Given the description of an element on the screen output the (x, y) to click on. 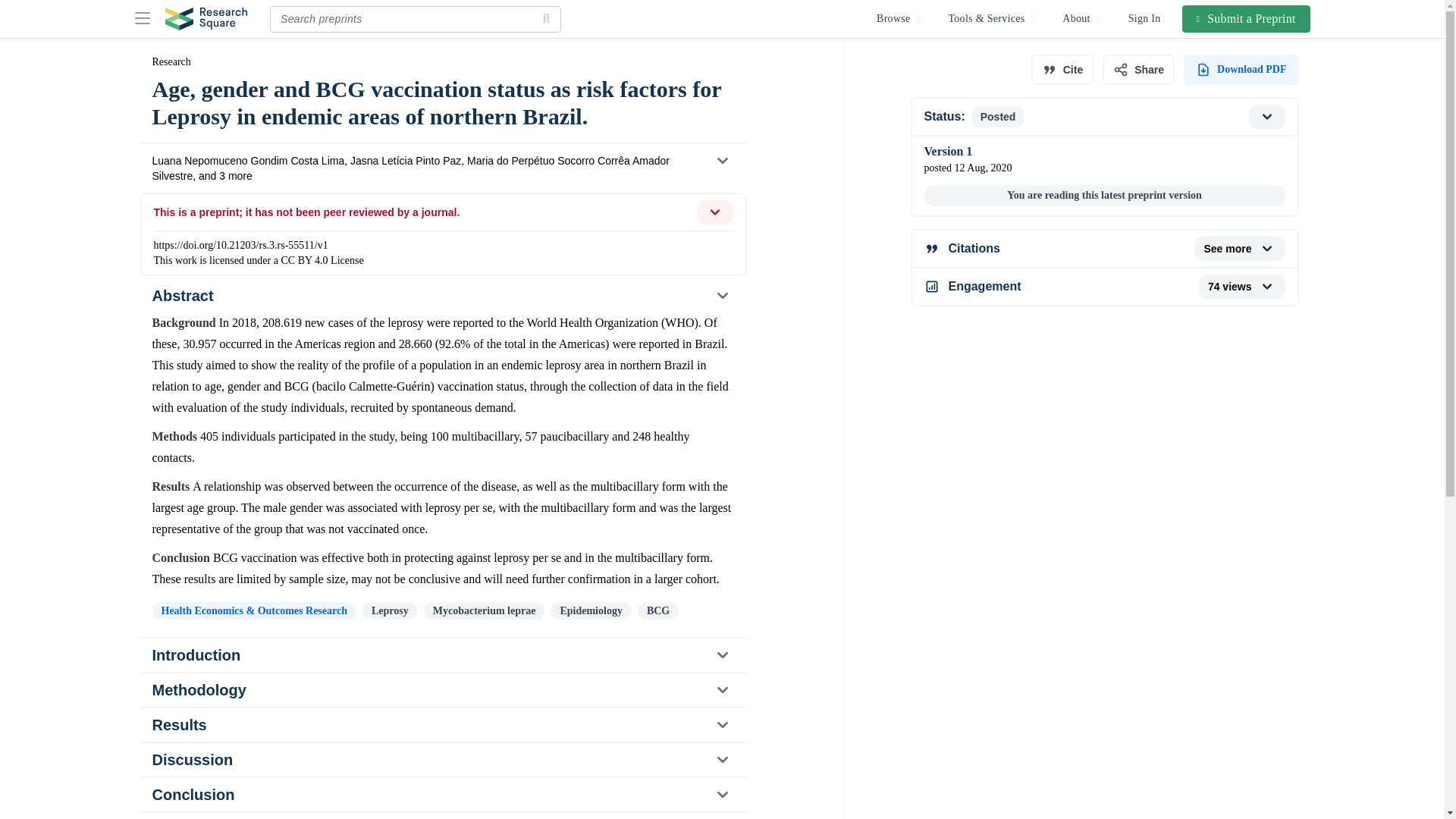
Submit a Preprint (1246, 18)
Introduction (442, 654)
Conclusion (442, 794)
Results (442, 725)
Sign In (1144, 18)
Cite (1061, 69)
Share (1138, 69)
Abstract (442, 295)
Abbreviations (1103, 116)
